Given the description of an element on the screen output the (x, y) to click on. 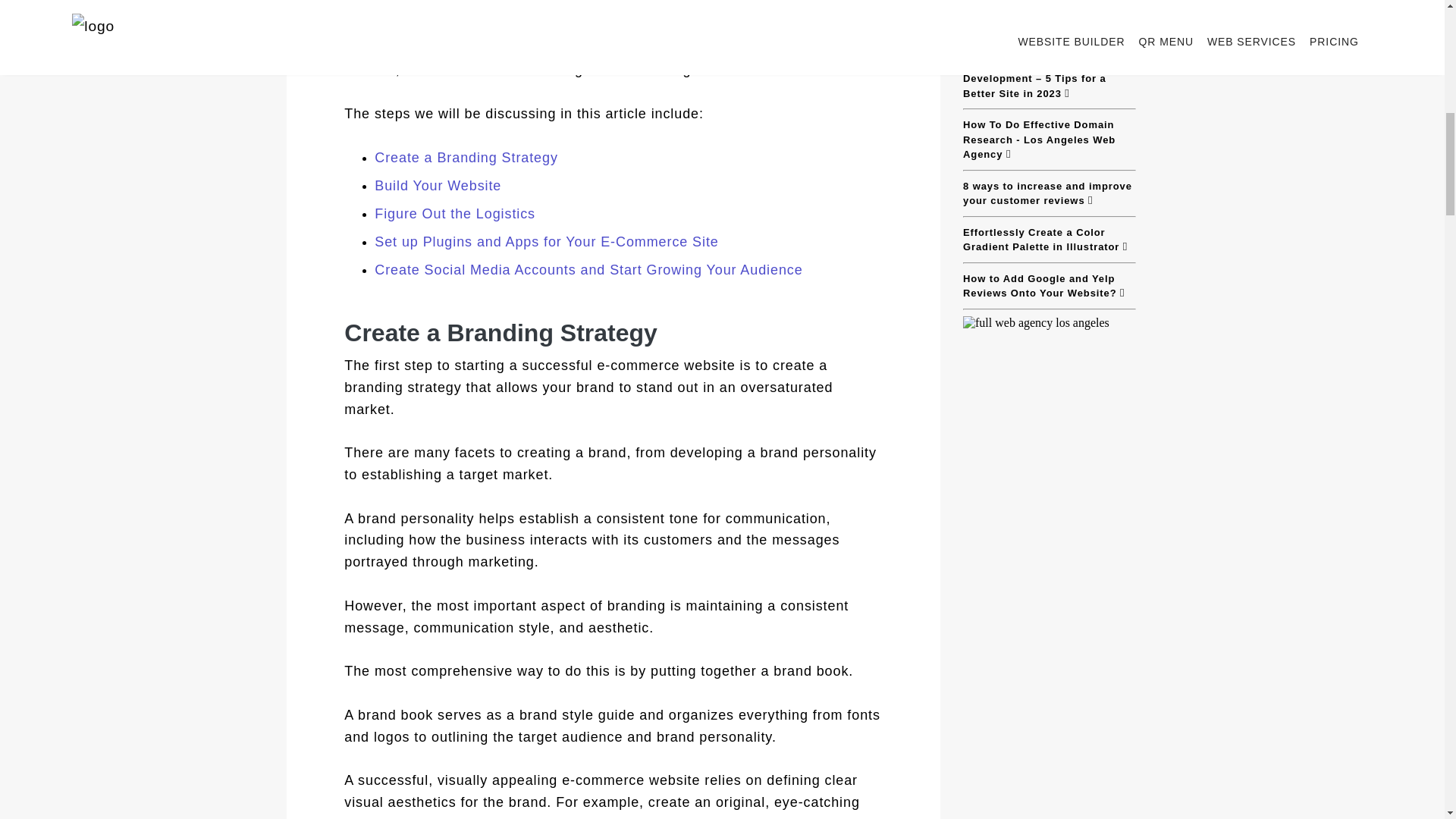
Create Social Media Accounts and Start Growing Your Audience (628, 270)
Figure Out the Logistics (628, 213)
Revolutionizing Blog Content Creation with AI (1048, 25)
How To Do Effective Domain Research - Los Angeles Web Agency (1048, 139)
How to Add Google and Yelp Reviews Onto Your Website? (1048, 286)
Create a Branding Strategy (628, 158)
8 ways to increase and improve your customer reviews (1048, 193)
Effortlessly Create a Color Gradient Palette in Illustrator (1048, 238)
Build Your Website (628, 186)
Set up Plugins and Apps for Your E-Commerce Site (628, 241)
